Given the description of an element on the screen output the (x, y) to click on. 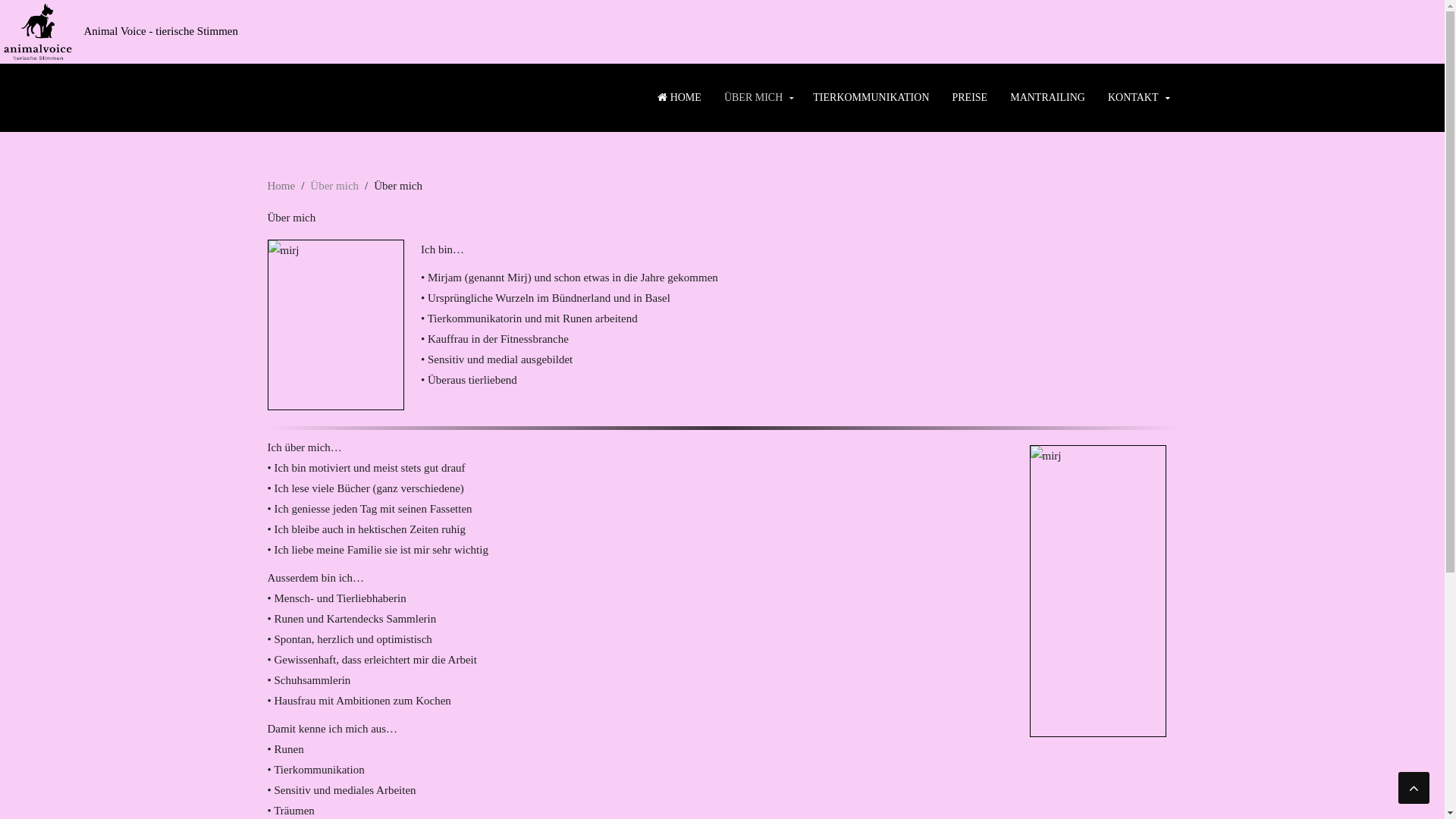
PREISE Element type: text (969, 97)
Home Element type: text (280, 185)
TIERKOMMUNIKATION Element type: text (870, 97)
KONTAKT Element type: text (1136, 97)
MANTRAILING Element type: text (1047, 97)
HOME Element type: text (679, 97)
